Given the description of an element on the screen output the (x, y) to click on. 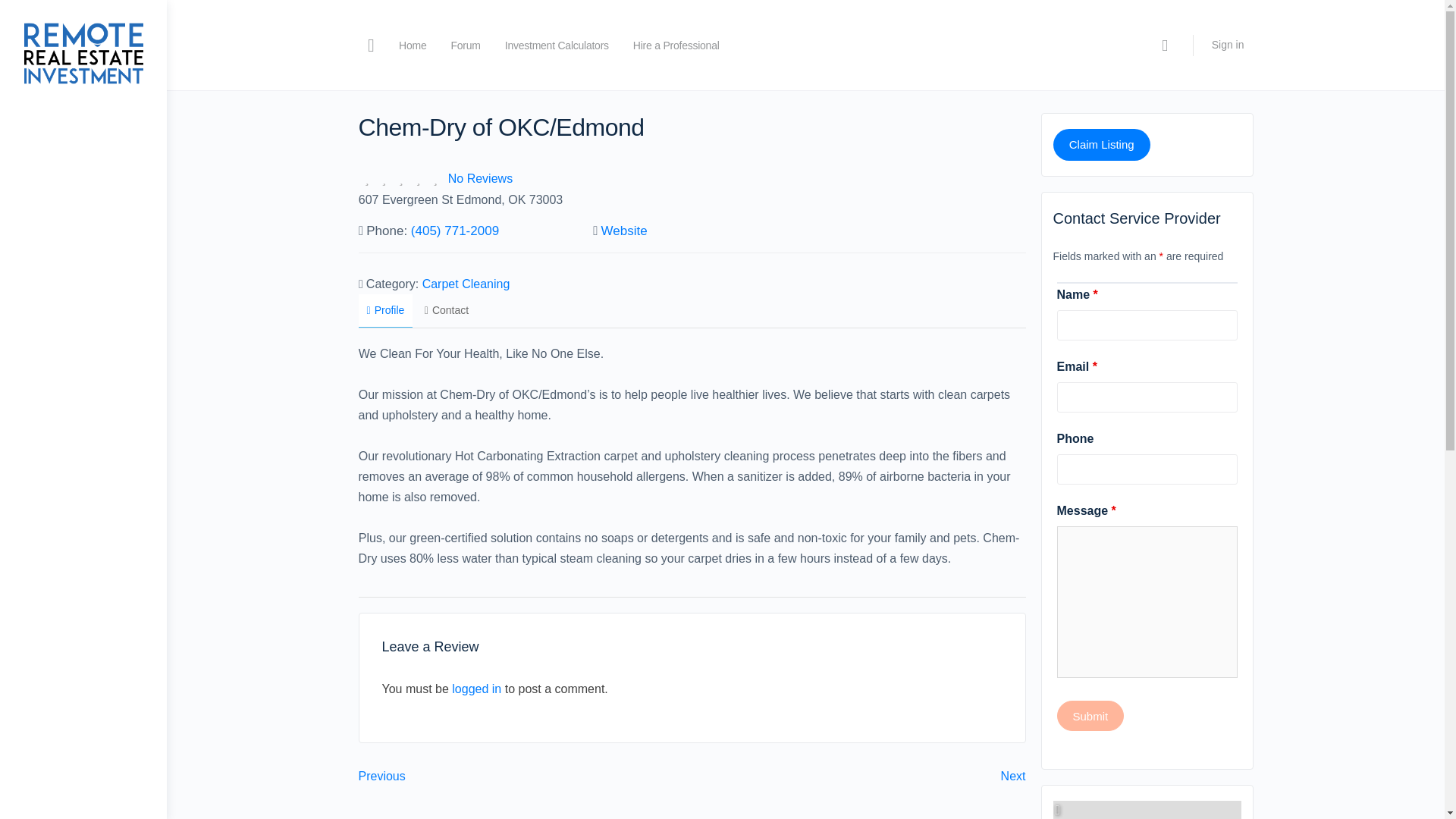
Home (412, 45)
Submit (1090, 716)
logged in (475, 688)
No Reviews (480, 178)
Forum (464, 45)
Website (624, 230)
Next (1013, 775)
Profile (385, 310)
Carpet Cleaning (466, 283)
No rating yet! (401, 179)
Previous (381, 775)
Hire a Professional (676, 45)
Claim Listing (1101, 144)
Contact (446, 310)
Sign in (1227, 44)
